Given the description of an element on the screen output the (x, y) to click on. 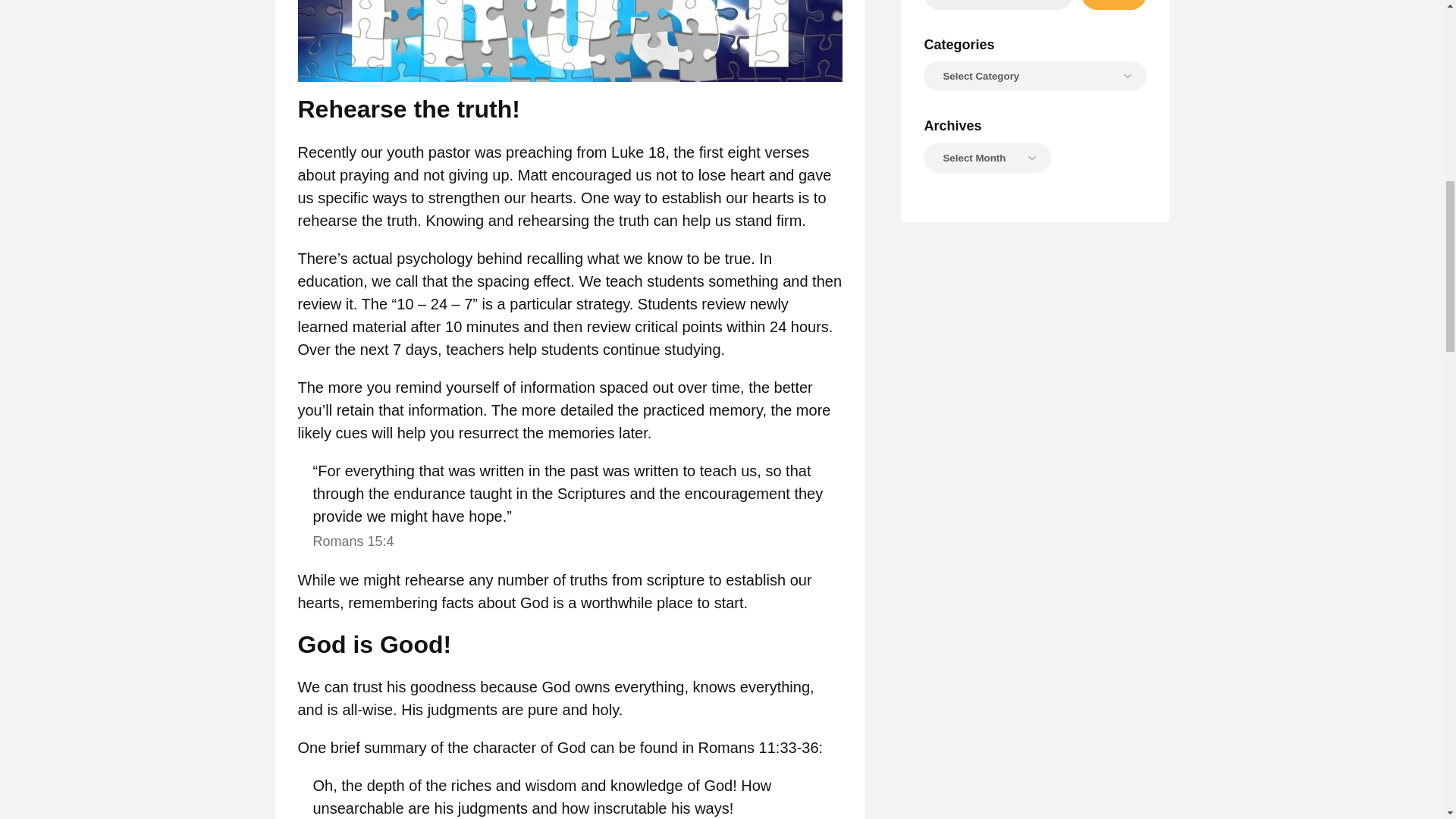
Search (1114, 4)
Search (1114, 4)
